Given the description of an element on the screen output the (x, y) to click on. 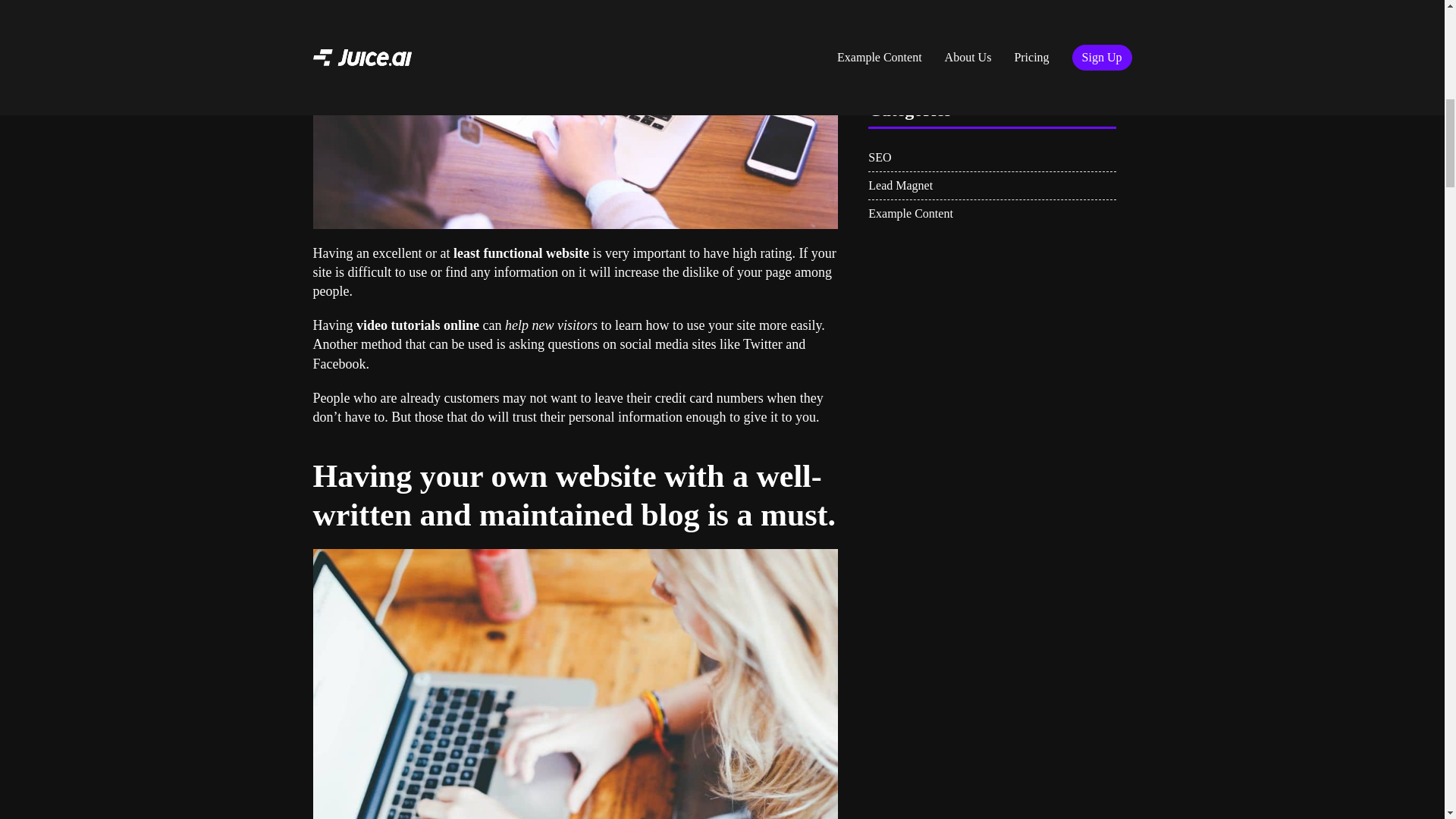
What is SEO and How Can I Master it Quickly? (1026, 51)
SEO (991, 157)
Example Content (991, 213)
Lead Magnet (991, 185)
